Given the description of an element on the screen output the (x, y) to click on. 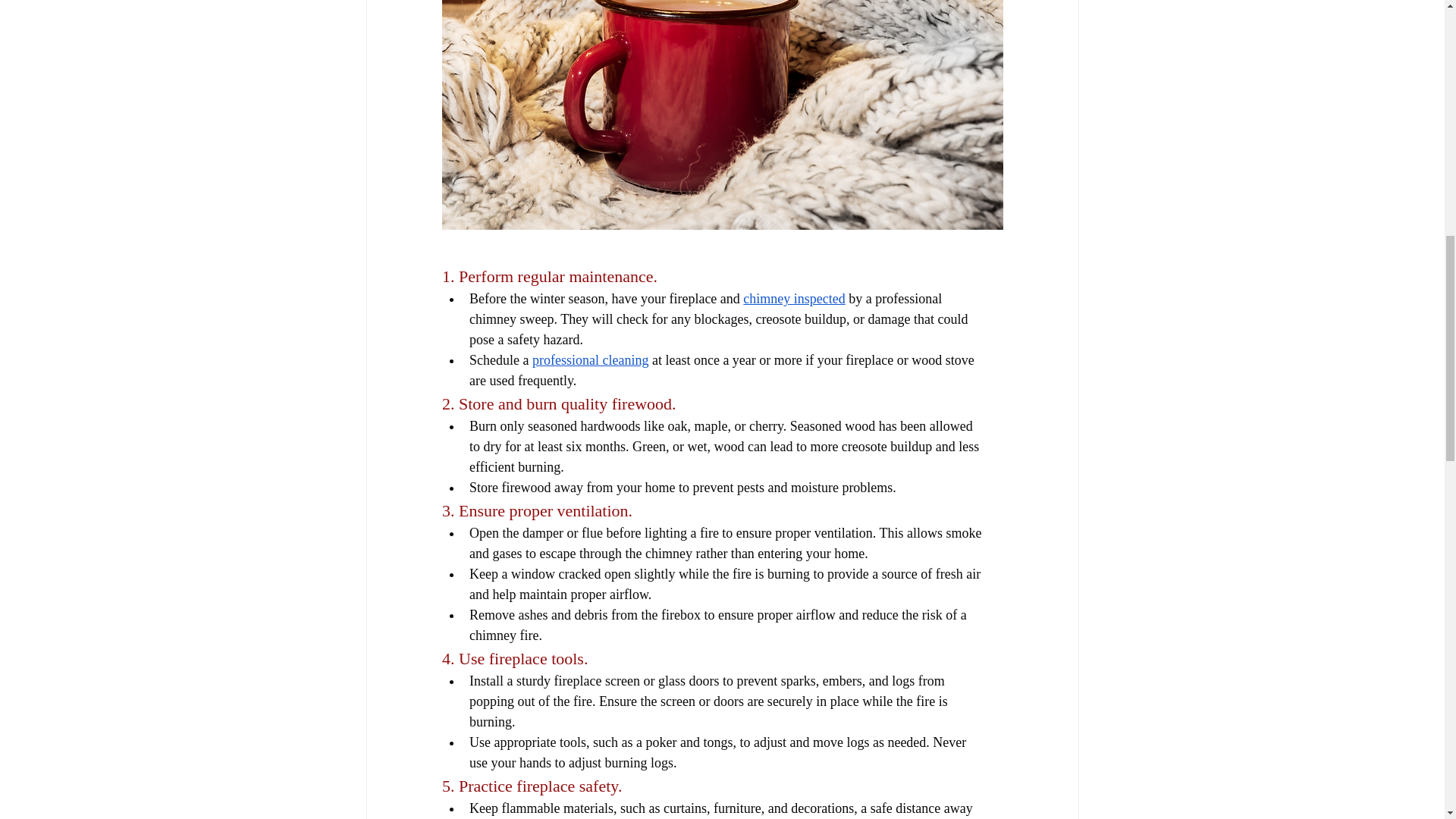
chimney inspected (793, 298)
professional cleaning (589, 359)
